Given the description of an element on the screen output the (x, y) to click on. 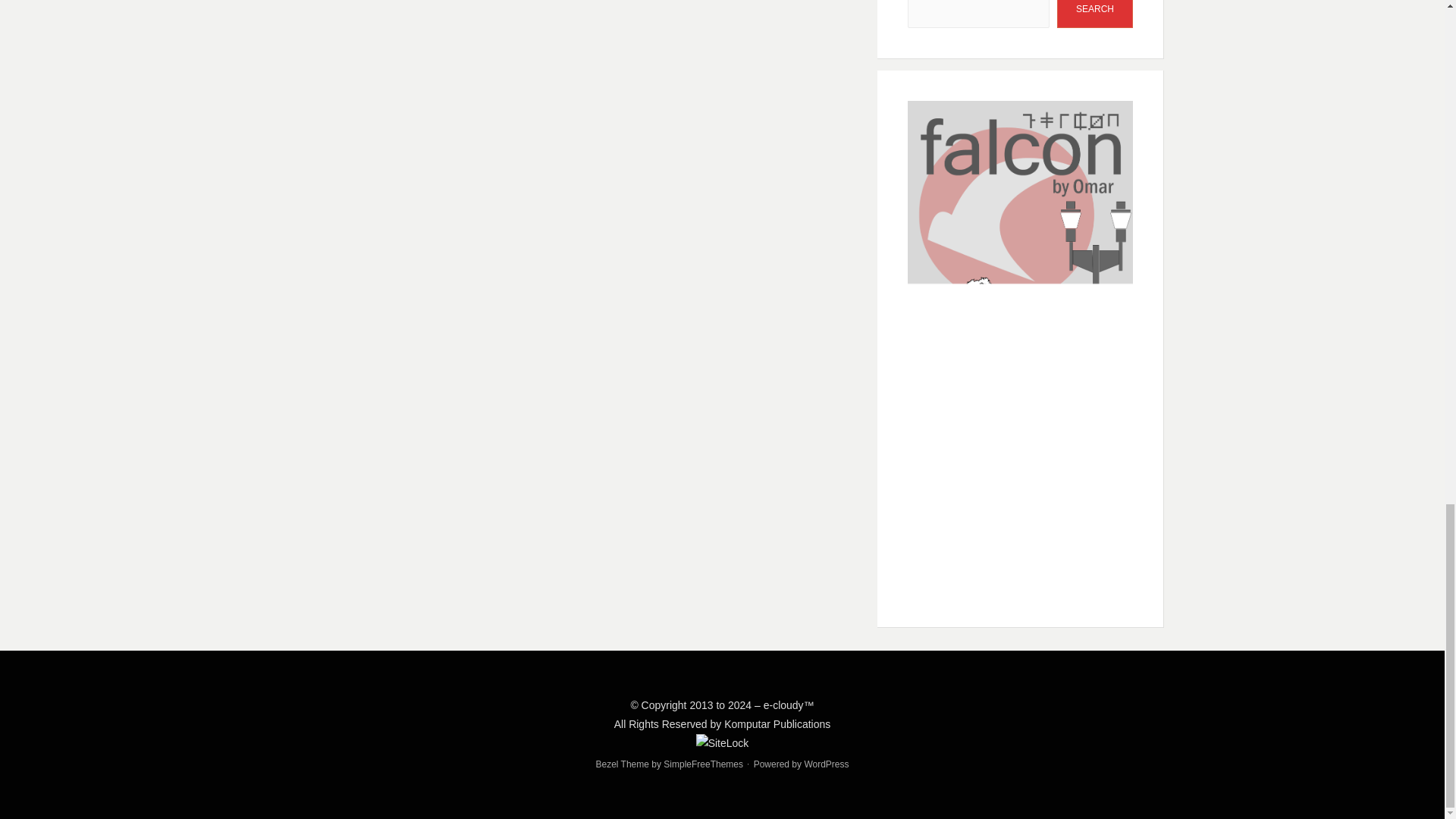
SimpleFreeThemes (702, 764)
SiteLock (722, 742)
WordPress (825, 764)
